Given the description of an element on the screen output the (x, y) to click on. 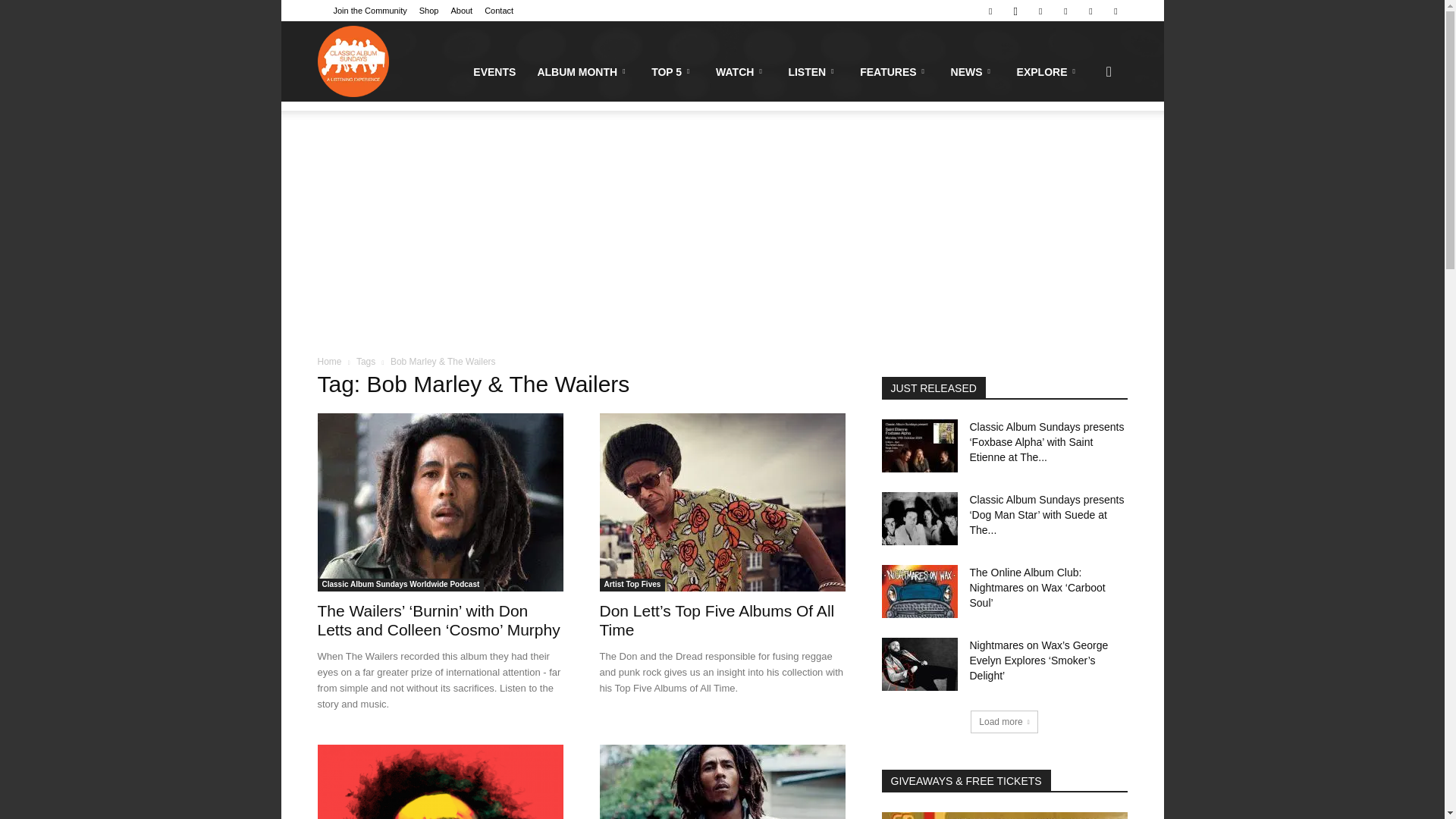
Facebook (989, 10)
Spotify (1065, 10)
Pinterest (1040, 10)
Twitter (1090, 10)
Youtube (1114, 10)
Shop (429, 10)
Join the Community (370, 10)
Instagram (1015, 10)
About (460, 10)
